Given the description of an element on the screen output the (x, y) to click on. 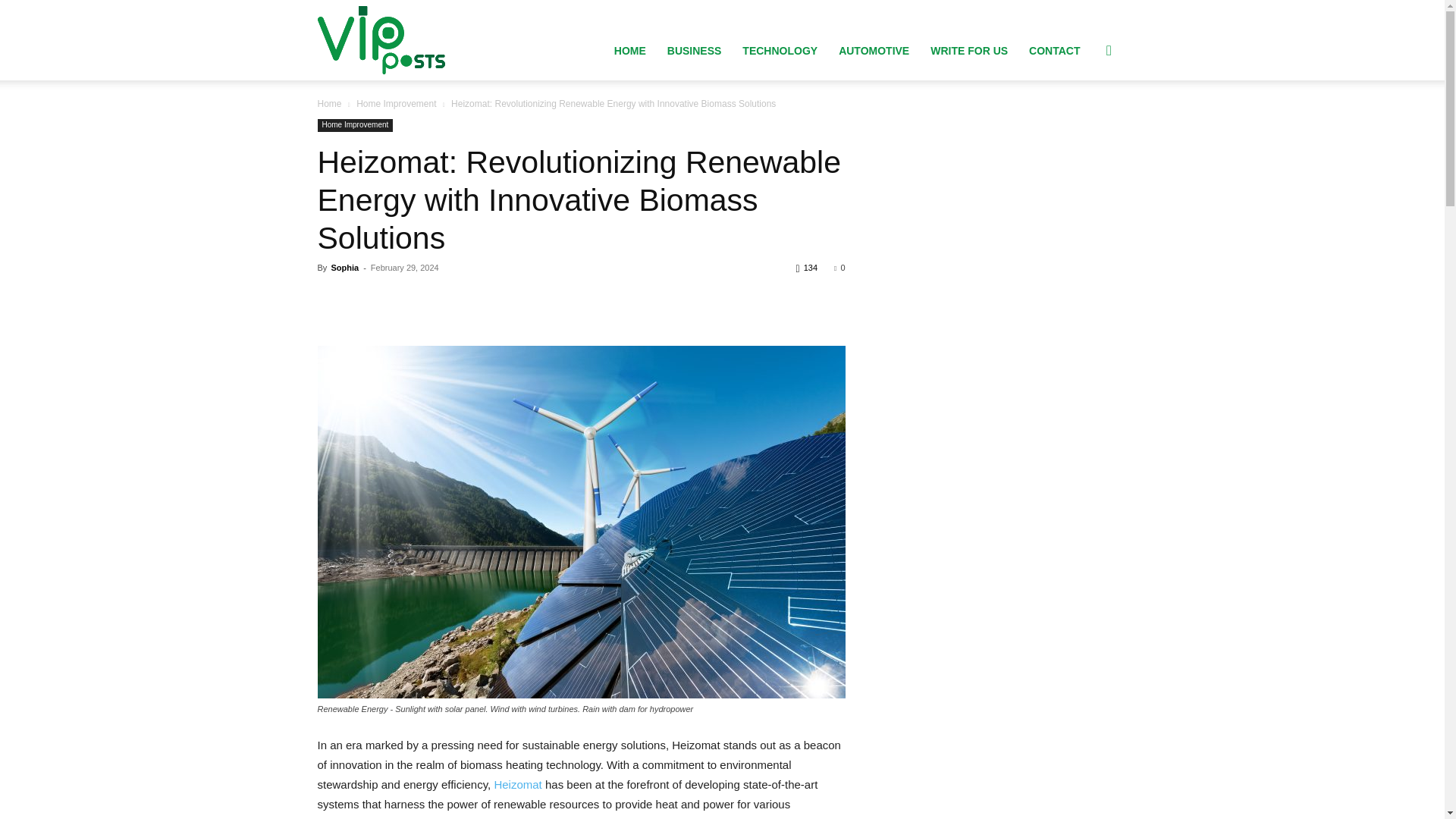
View all posts in Home Improvement (395, 103)
BUSINESS (694, 50)
Home Improvement (355, 124)
Search (1085, 122)
HOME (630, 50)
Sophia (344, 266)
AUTOMOTIVE (874, 50)
Home (328, 103)
Header Logo (380, 39)
VIP Posts (380, 39)
Home Improvement (395, 103)
CONTACT (1053, 50)
0 (839, 266)
WRITE FOR US (968, 50)
TECHNOLOGY (780, 50)
